Given the description of an element on the screen output the (x, y) to click on. 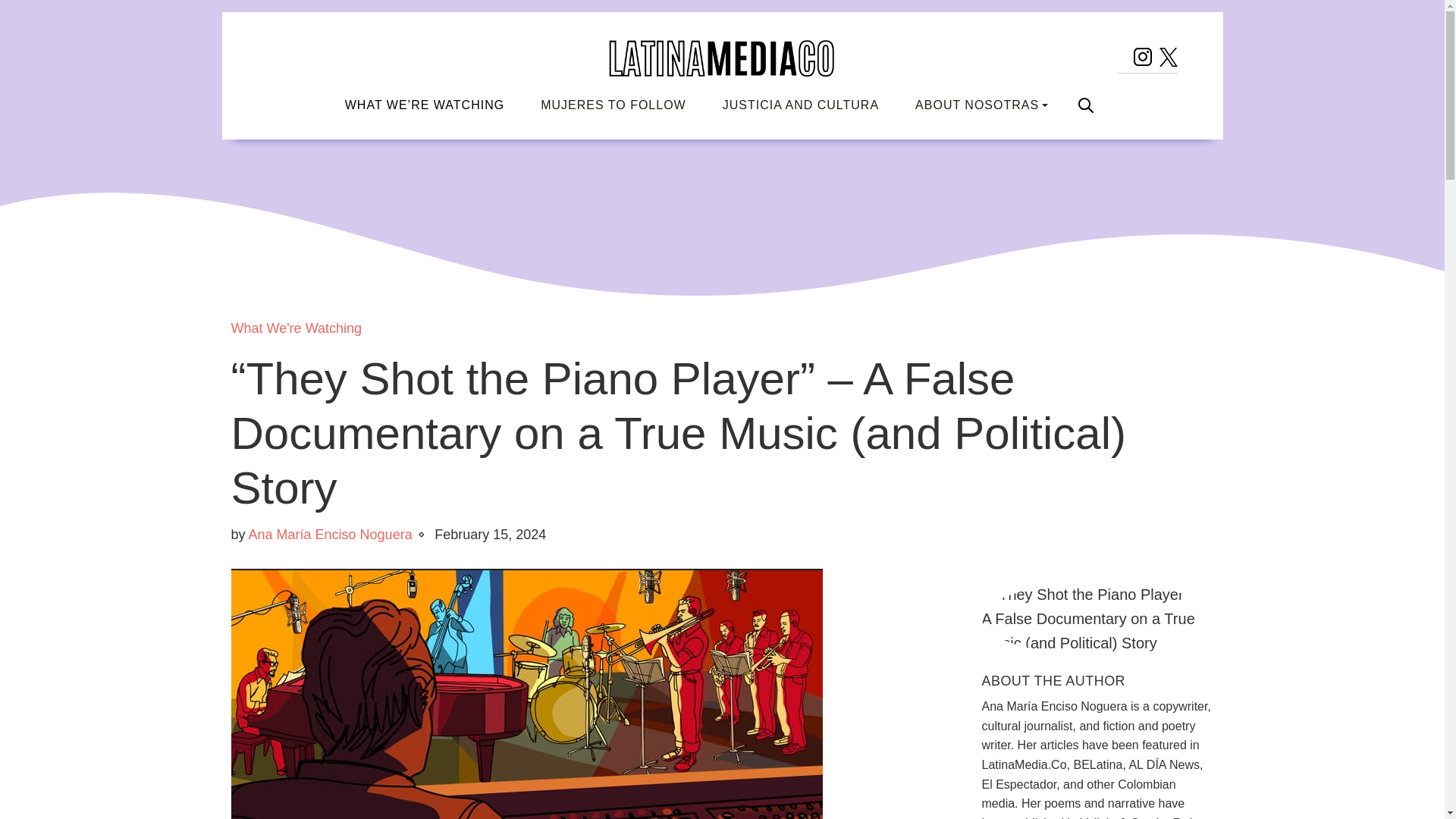
MUJERES TO FOLLOW (613, 105)
JUSTICIA AND CULTURA (800, 105)
What We're Watching (295, 328)
SEARCH (1085, 105)
ABOUT NOSOTRAS (981, 105)
